Given the description of an element on the screen output the (x, y) to click on. 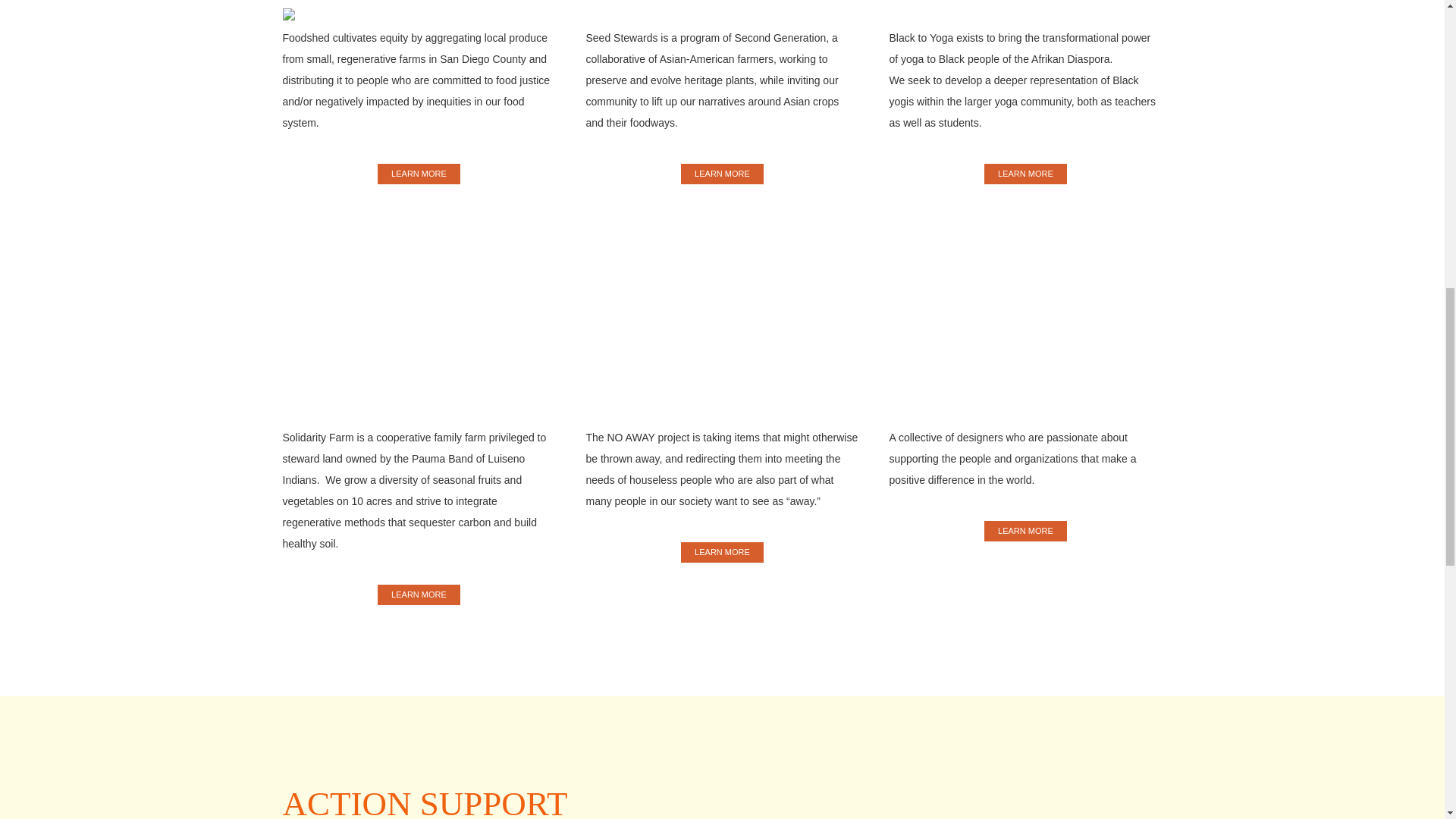
LEARN MORE (1024, 530)
Designer For Change (1024, 530)
LEARN MORE (1024, 173)
LEARN MORE (721, 552)
No Away (721, 552)
Black To Yoga (1024, 173)
LEARN MORE (721, 173)
Seed Steward (721, 173)
LEARN MORE (418, 173)
LEARN MORE (418, 594)
